Given the description of an element on the screen output the (x, y) to click on. 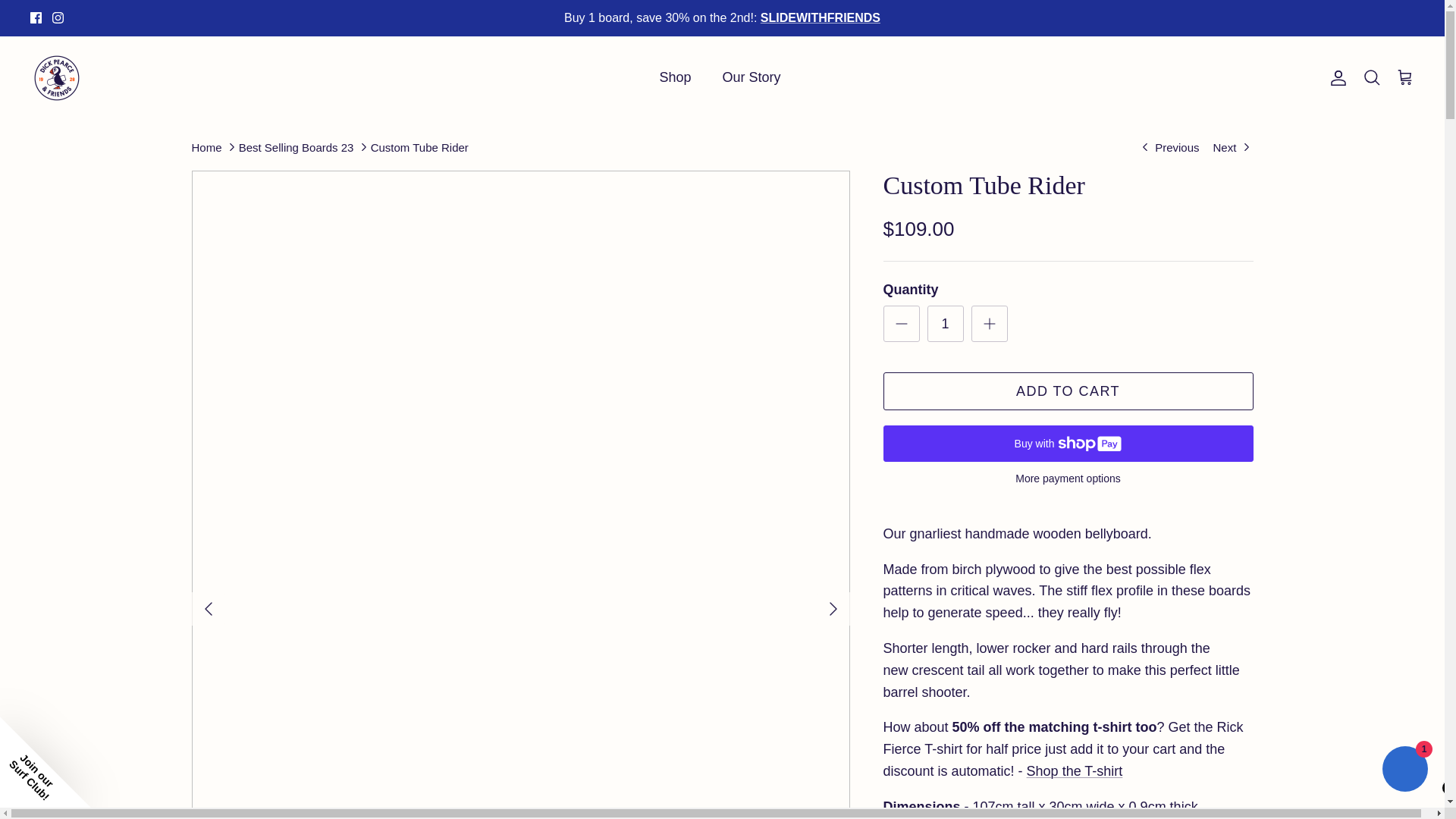
Shop (674, 77)
Our Story (751, 77)
RIGHT (832, 608)
Plus (988, 323)
Summer Stripes - Limited Edition (1232, 146)
Facebook (36, 17)
LEFT (207, 608)
Cart (1404, 77)
Facebook (36, 17)
Minus (900, 323)
SLIDEWITHFRIENDS (820, 17)
Search (1371, 77)
Instagram (58, 17)
Account (1335, 77)
Shopify online store chat (1404, 770)
